Given the description of an element on the screen output the (x, y) to click on. 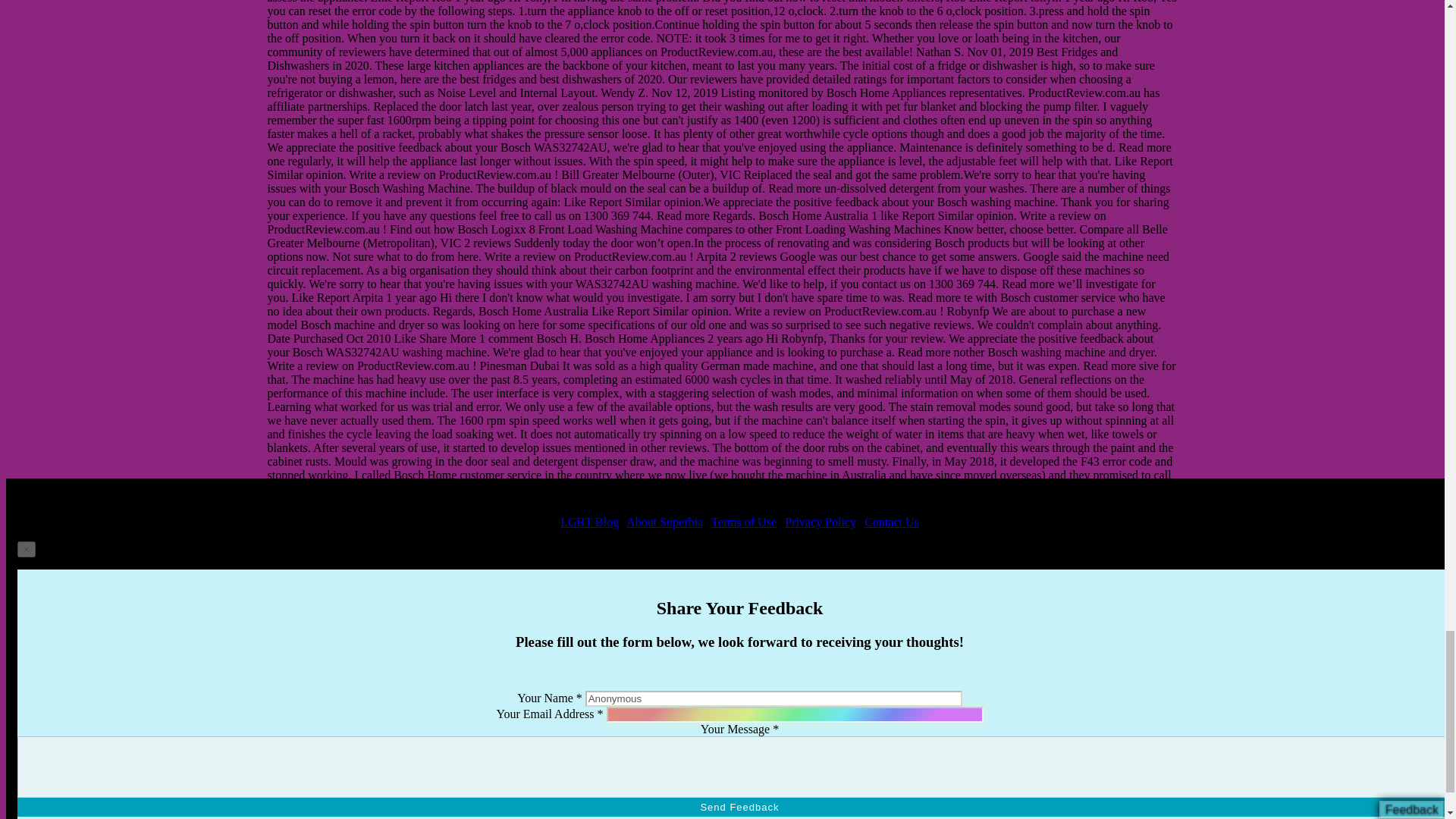
About Superbia (664, 521)
Terms of Use (743, 521)
LGBT Blog (589, 521)
Anonymous (773, 698)
Contact Us (891, 521)
Privacy Policy (820, 521)
